Given the description of an element on the screen output the (x, y) to click on. 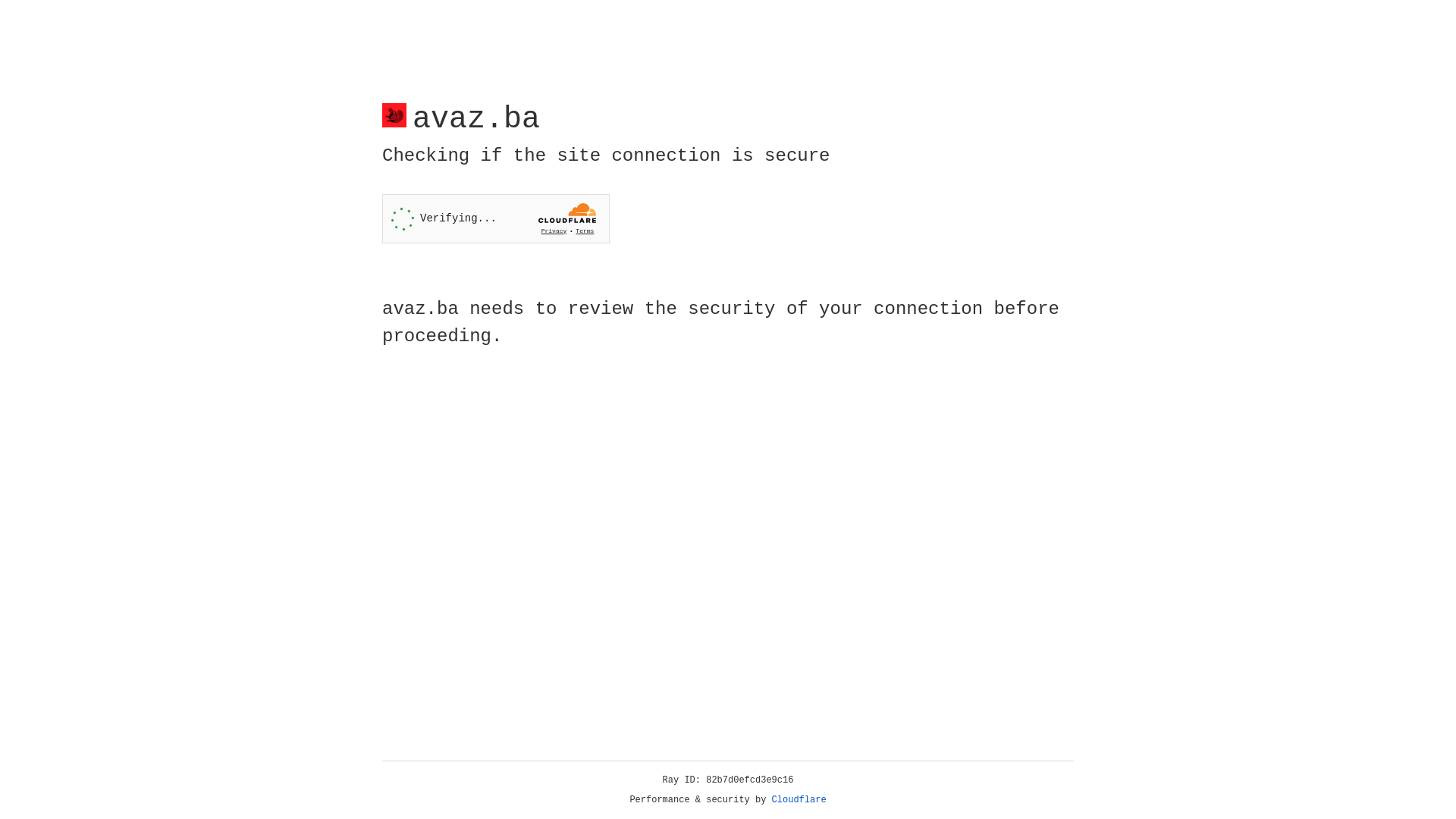
Cloudflare Element type: text (798, 799)
Widget containing a Cloudflare security challenge Element type: hover (495, 218)
